Given the description of an element on the screen output the (x, y) to click on. 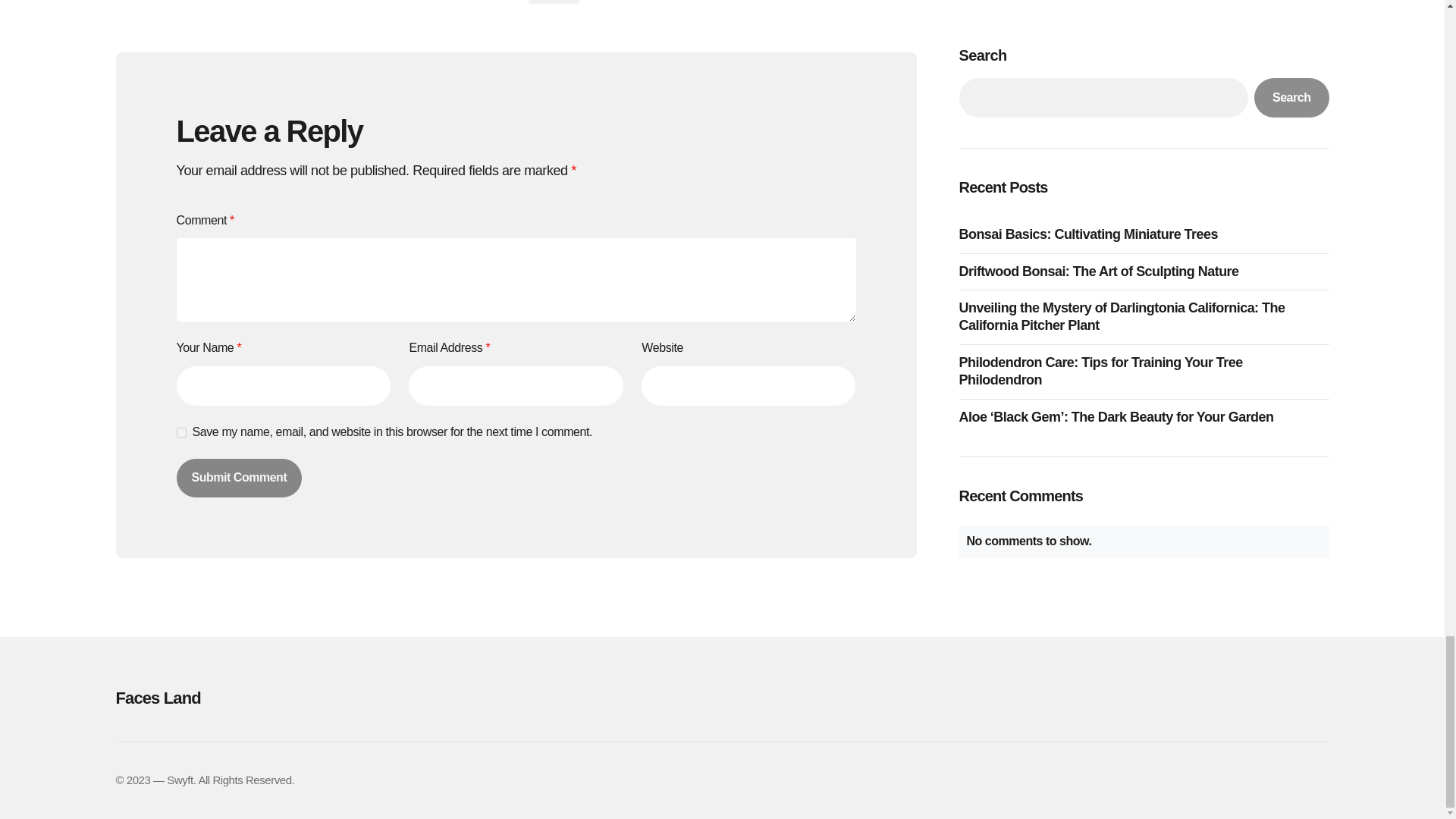
Submit Comment (238, 477)
Faces Land (305, 697)
yes (181, 432)
Bonsai (552, 2)
